Given the description of an element on the screen output the (x, y) to click on. 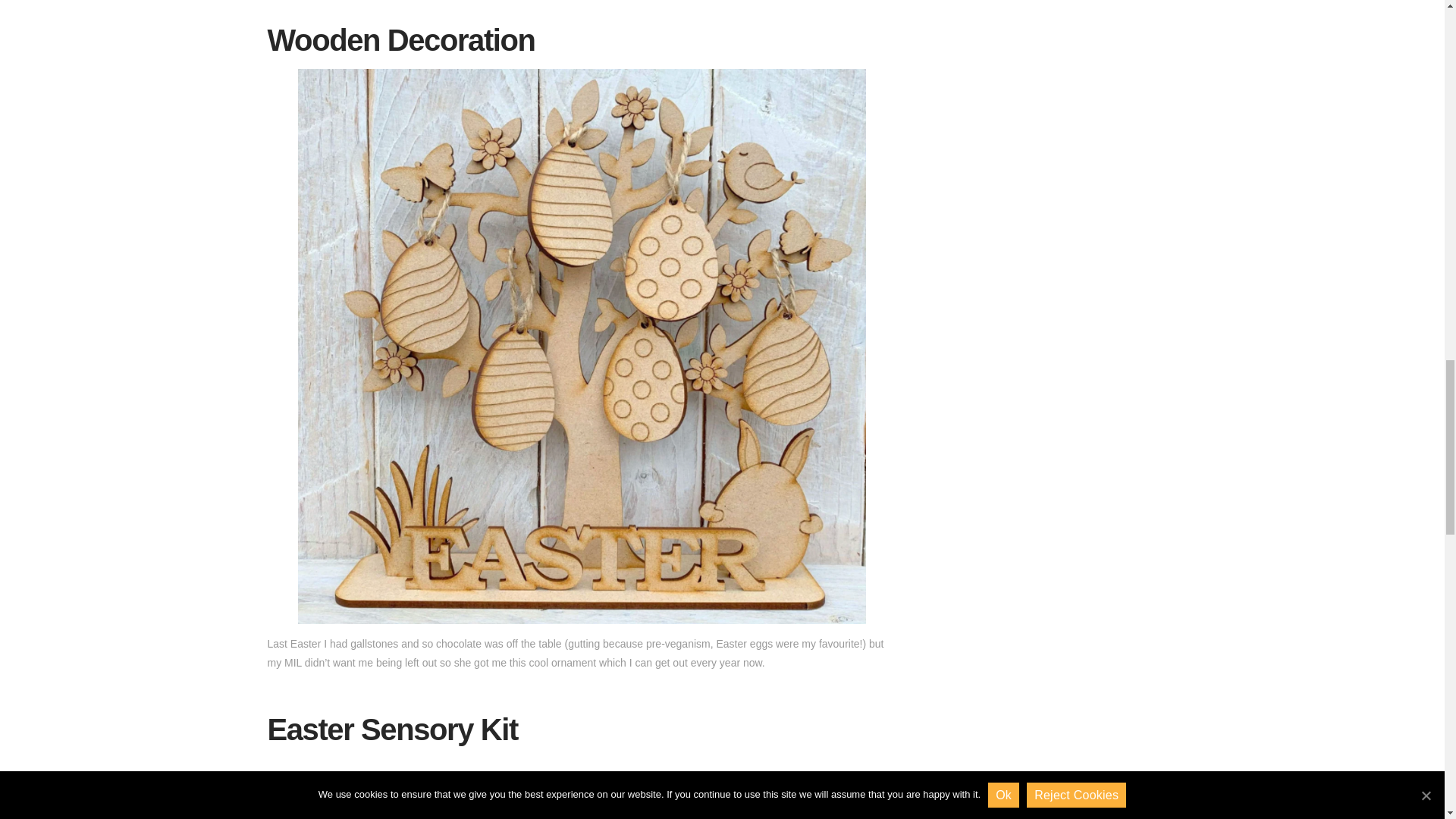
Easter Sensory Kit (391, 729)
Wooden Decoration (400, 39)
